Given the description of an element on the screen output the (x, y) to click on. 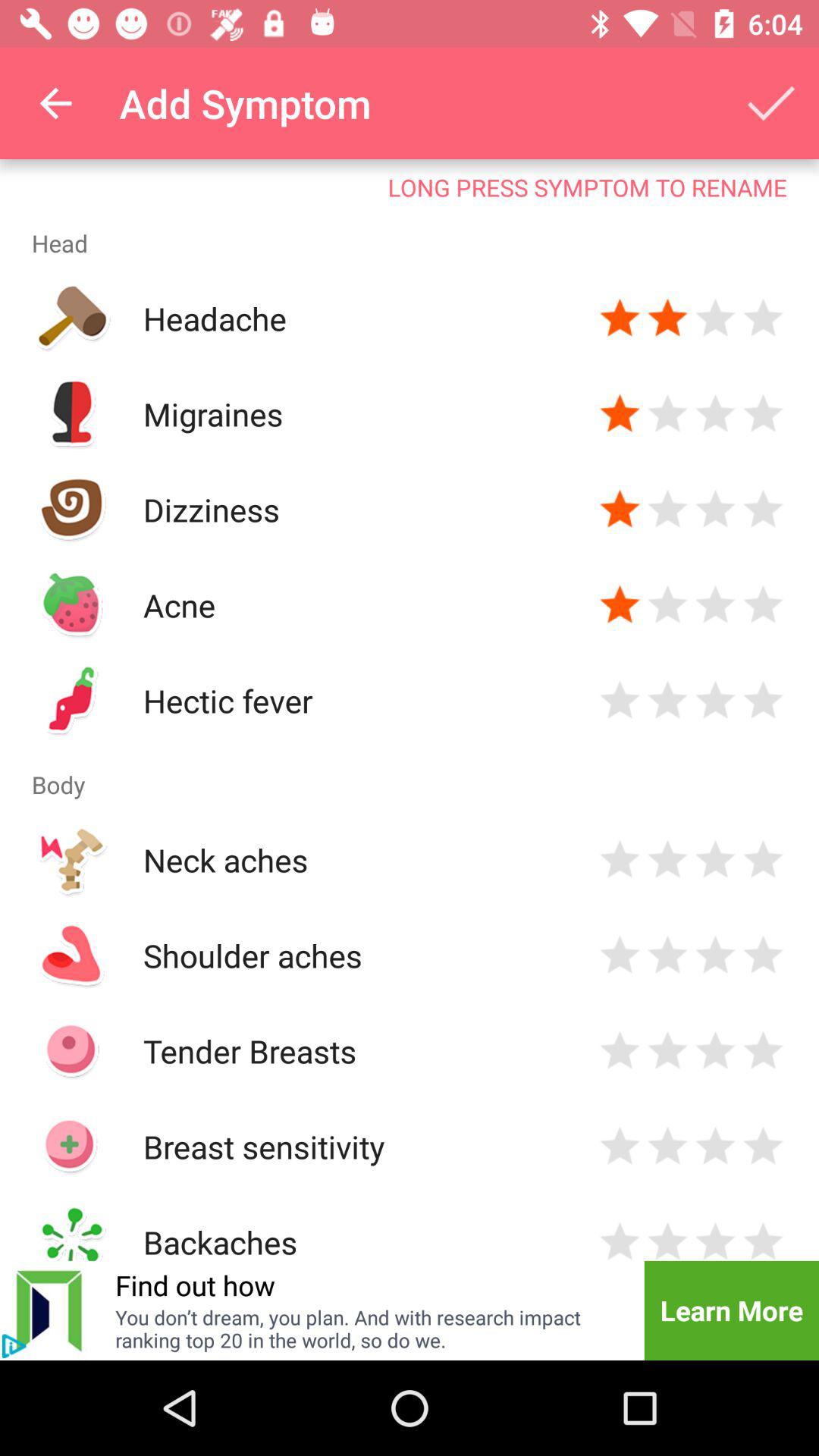
give a two stars rate (667, 413)
